Given the description of an element on the screen output the (x, y) to click on. 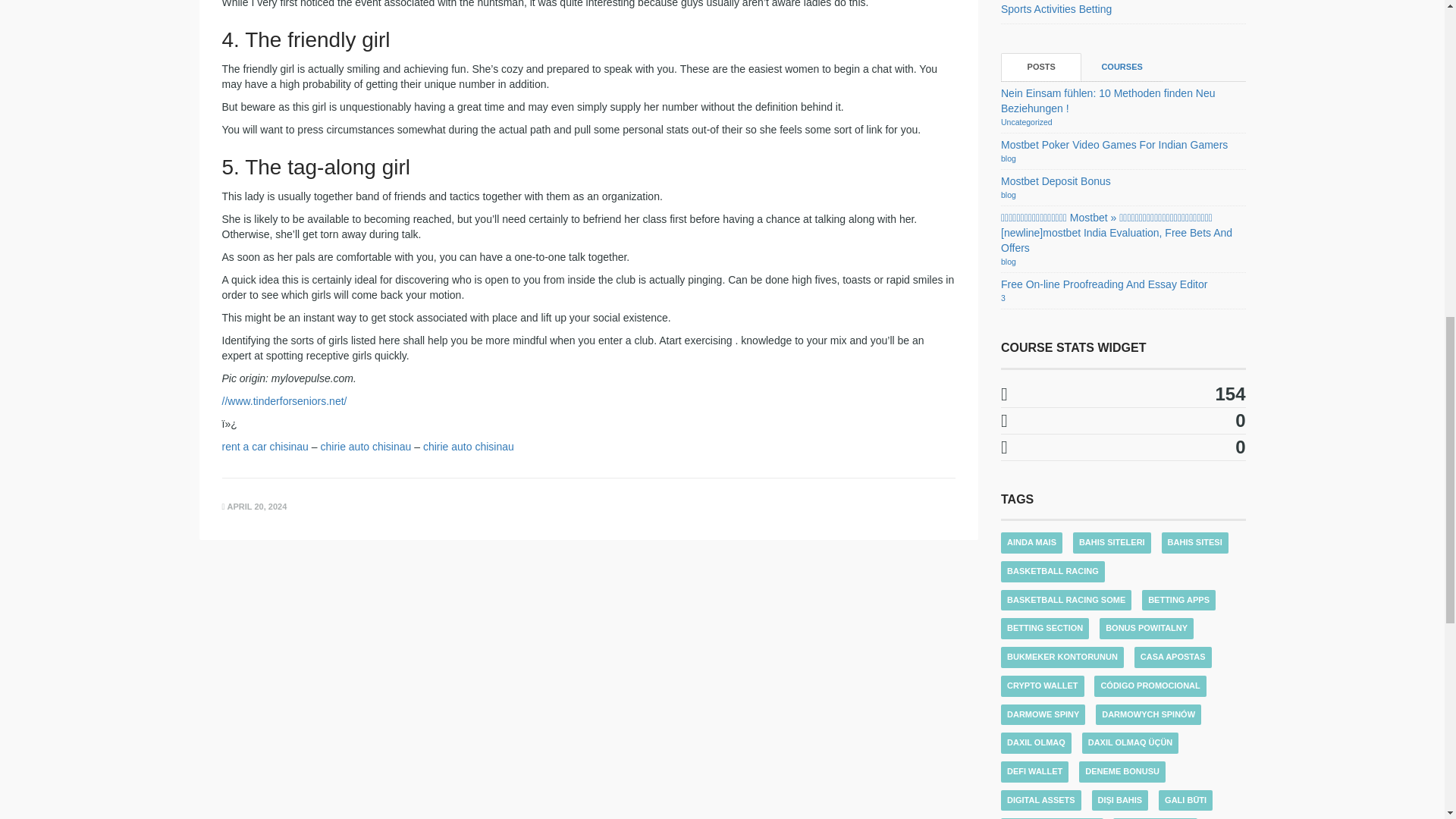
chirie auto chisinau (468, 446)
chirie auto chisinau (365, 446)
Mostbet Poker Video Games For Indian Gamers (1114, 144)
COURSES (1121, 67)
Mostbet Deposit Bonus (1055, 181)
Free On-line Proofreading And Essay Editor (1104, 284)
rent a car chisinau (264, 446)
chirie auto chisinau (468, 446)
Uncategorized (1026, 121)
rent a car chisinau (264, 446)
